Given the description of an element on the screen output the (x, y) to click on. 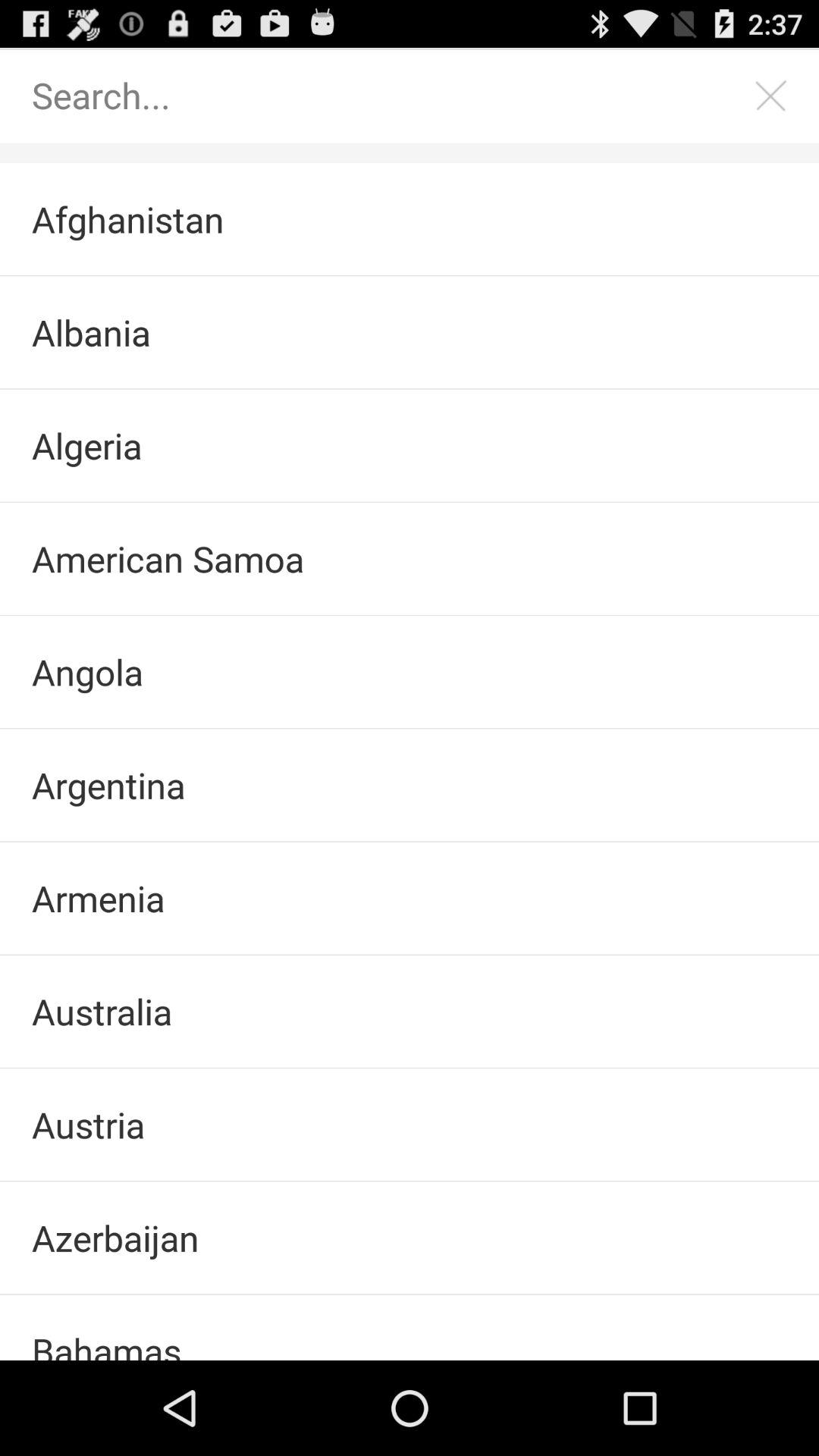
select item at the top right corner (771, 95)
